Given the description of an element on the screen output the (x, y) to click on. 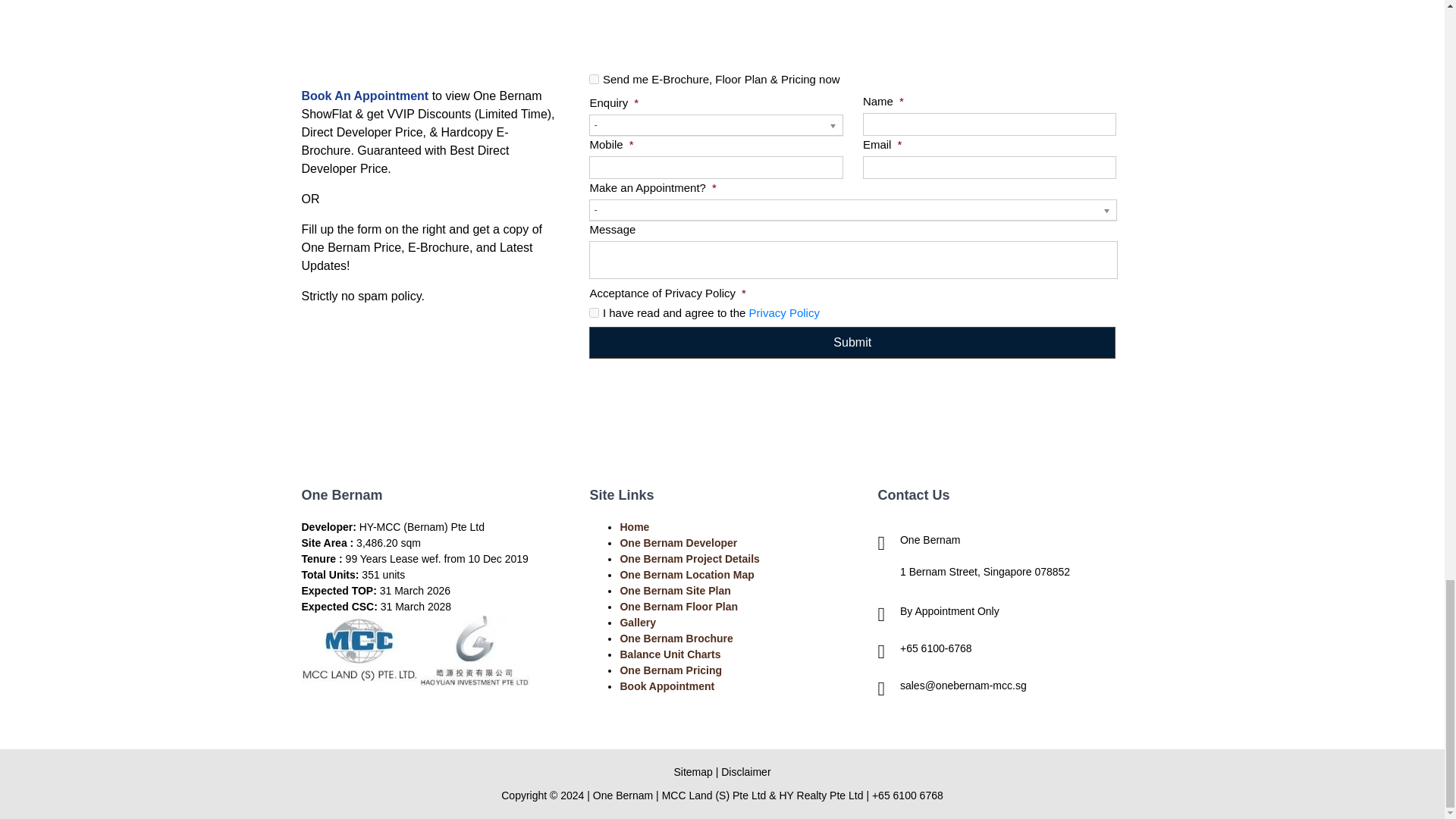
Yes (593, 79)
Submit (852, 342)
